Given the description of an element on the screen output the (x, y) to click on. 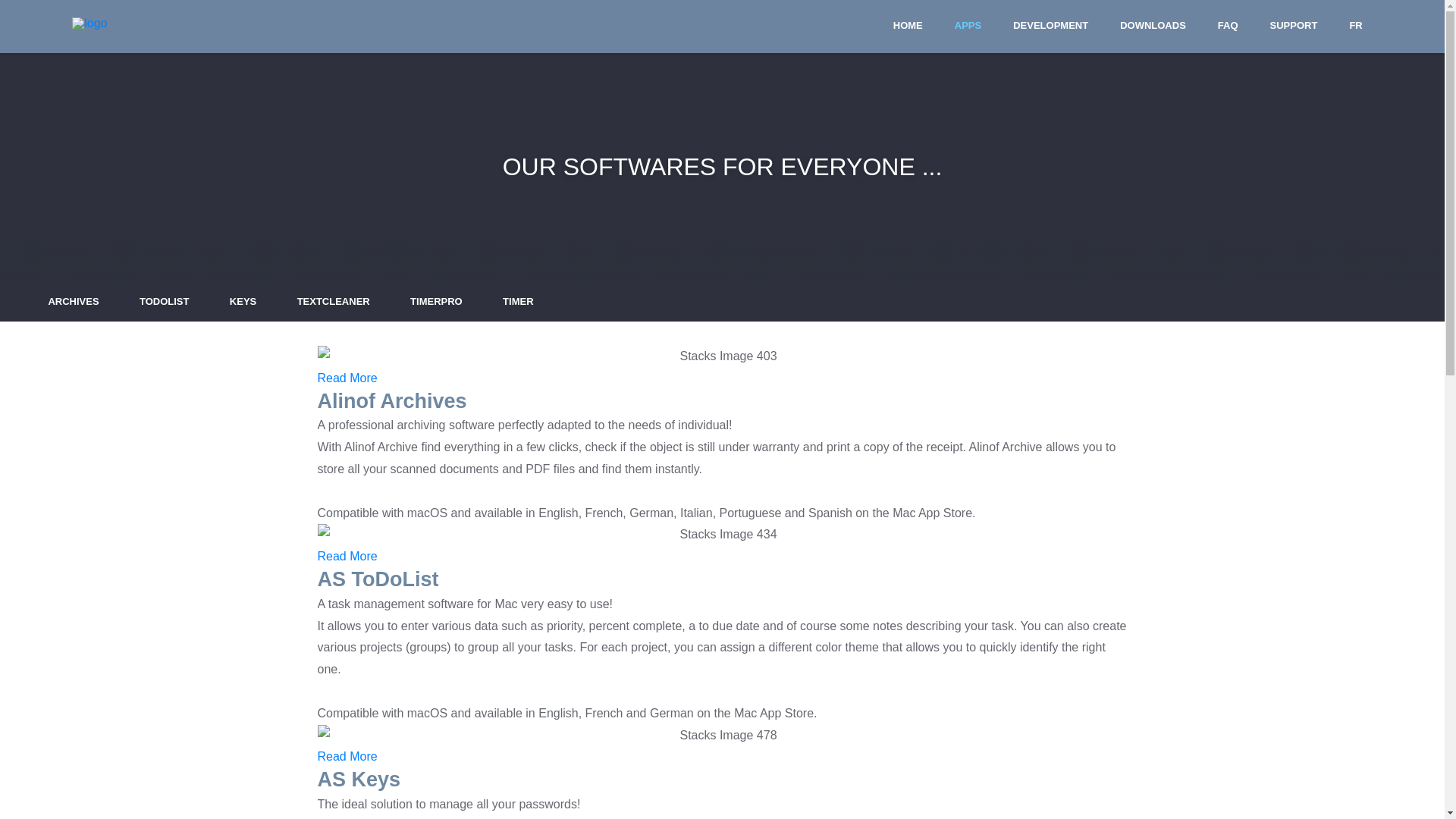
FR Element type: text (1355, 25)
TEXTCLEANER Element type: text (333, 301)
Read More Element type: text (346, 377)
TODOLIST Element type: text (163, 301)
SUPPORT Element type: text (1293, 25)
ARCHIVES Element type: text (72, 301)
Read More Element type: text (346, 755)
HOME Element type: text (907, 25)
TIMERPRO Element type: text (436, 301)
FAQ Element type: text (1228, 25)
DOWNLOADS Element type: text (1152, 25)
TIMER Element type: text (517, 301)
DEVELOPMENT Element type: text (1050, 25)
Read More Element type: text (346, 555)
KEYS Element type: text (242, 301)
APPS Element type: text (967, 25)
